Given the description of an element on the screen output the (x, y) to click on. 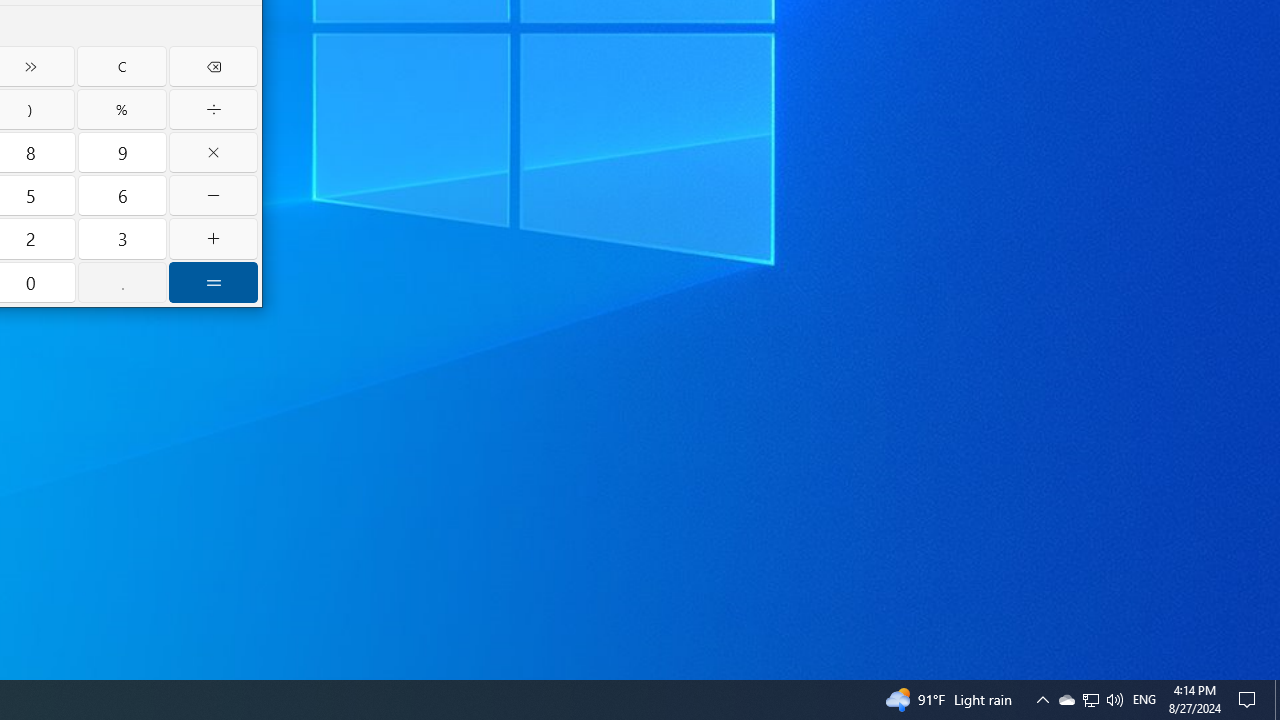
Multiply by (213, 151)
Six (122, 195)
Minus (213, 195)
Clear (121, 66)
Three (122, 238)
